Given the description of an element on the screen output the (x, y) to click on. 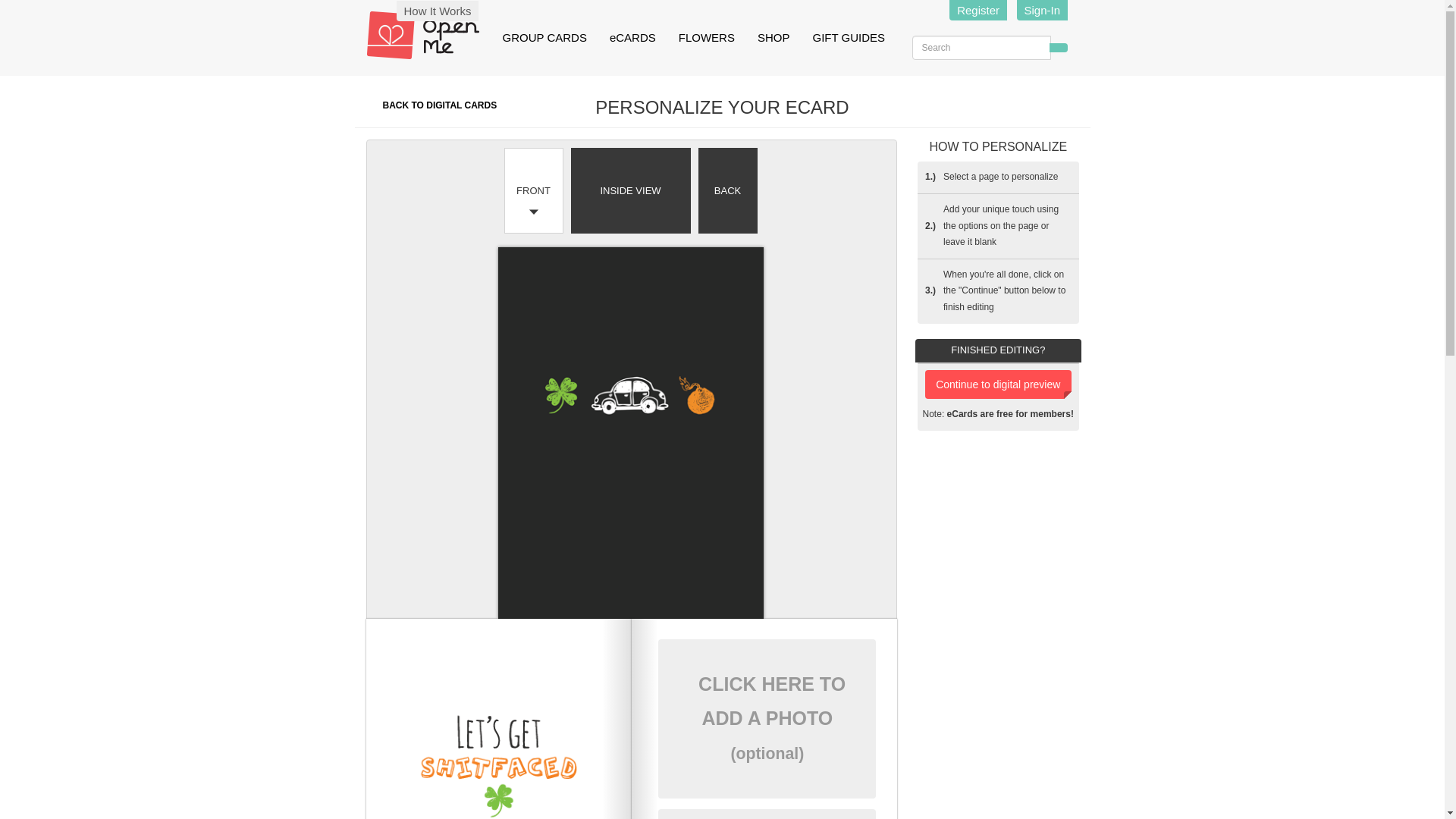
eCARDS (632, 38)
FLOWERS (705, 38)
Enter the terms you wish to search for. (980, 47)
GROUP CARDS (545, 38)
GIFT GUIDES (848, 38)
Home (427, 34)
